Given the description of an element on the screen output the (x, y) to click on. 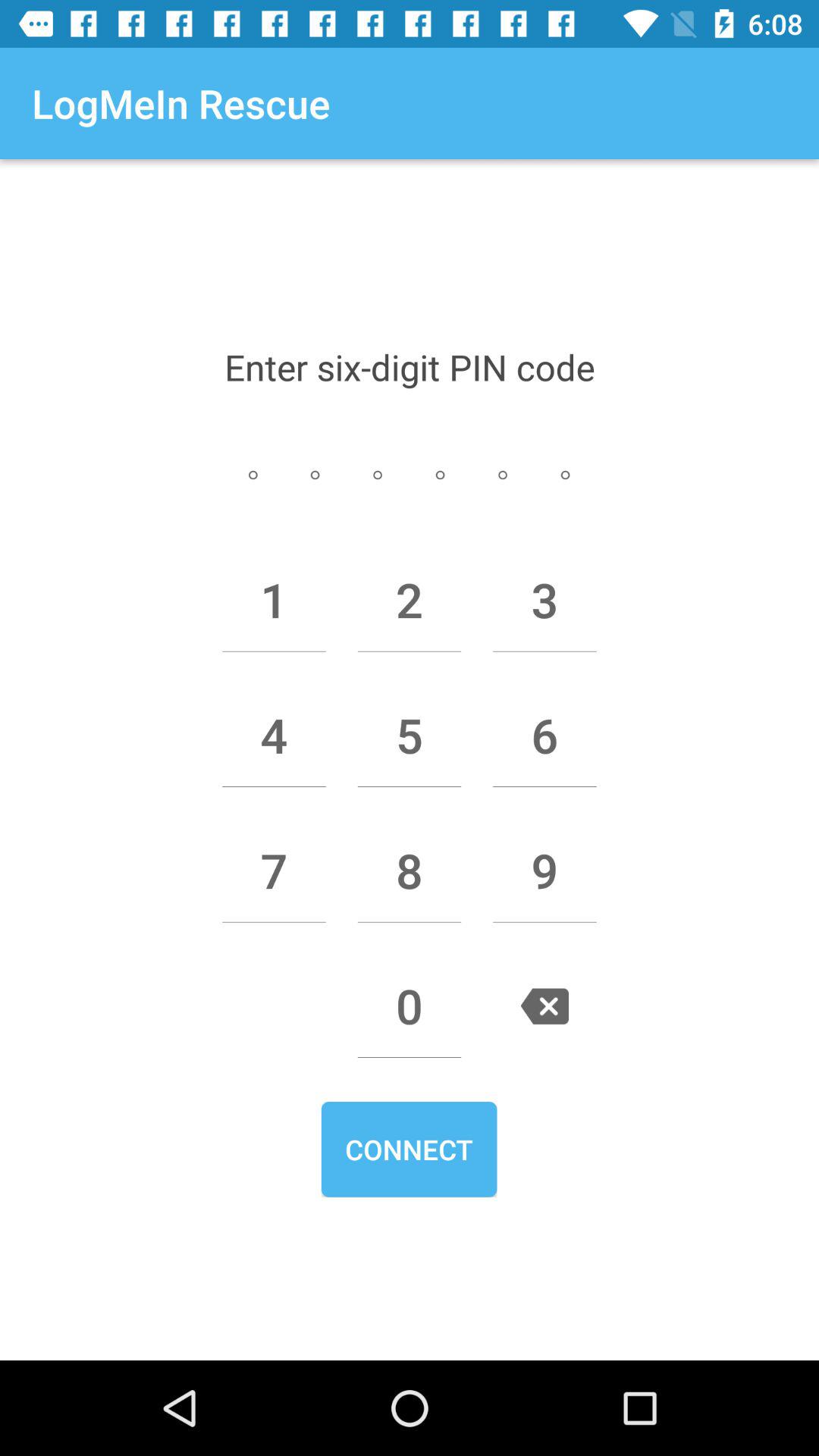
launch item to the left of the 6 item (409, 735)
